Given the description of an element on the screen output the (x, y) to click on. 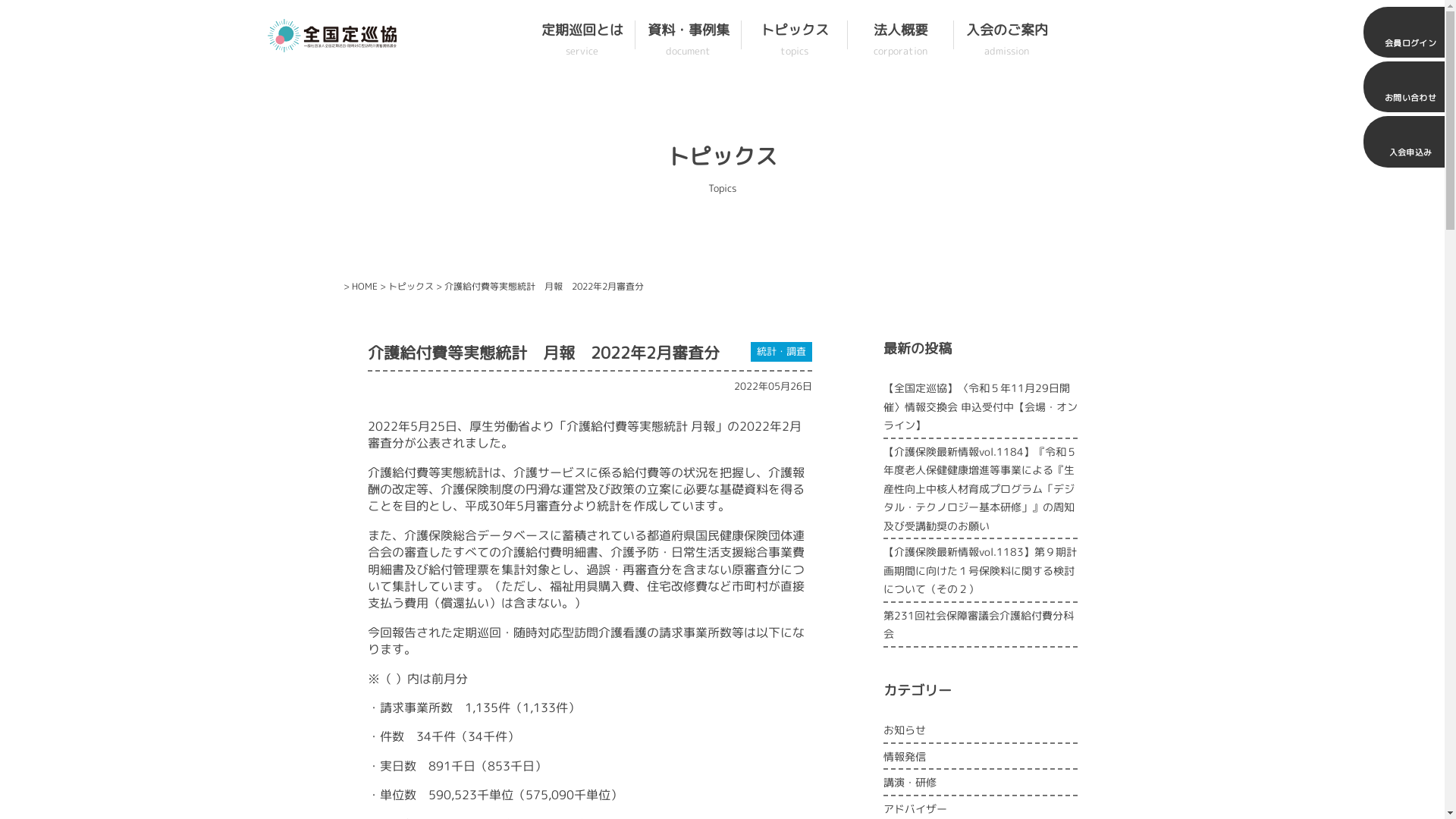
HOME Element type: text (364, 285)
